Given the description of an element on the screen output the (x, y) to click on. 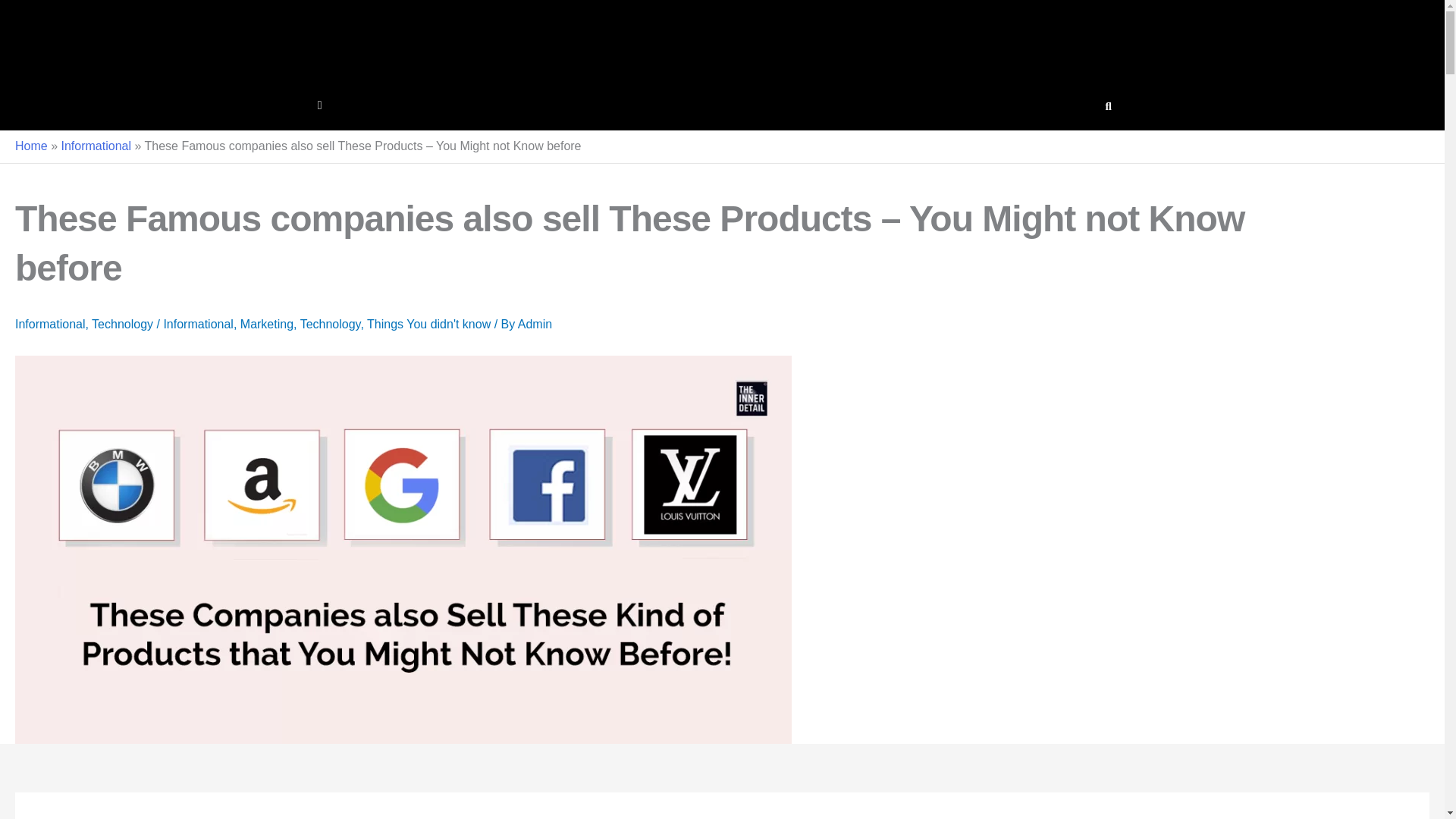
Technology (330, 323)
View all posts by Admin (534, 323)
Informational (197, 323)
Home (31, 145)
Marketing (267, 323)
Admin (534, 323)
Informational (49, 323)
Informational (96, 145)
Technology (121, 323)
Things You didn't know (428, 323)
